Given the description of an element on the screen output the (x, y) to click on. 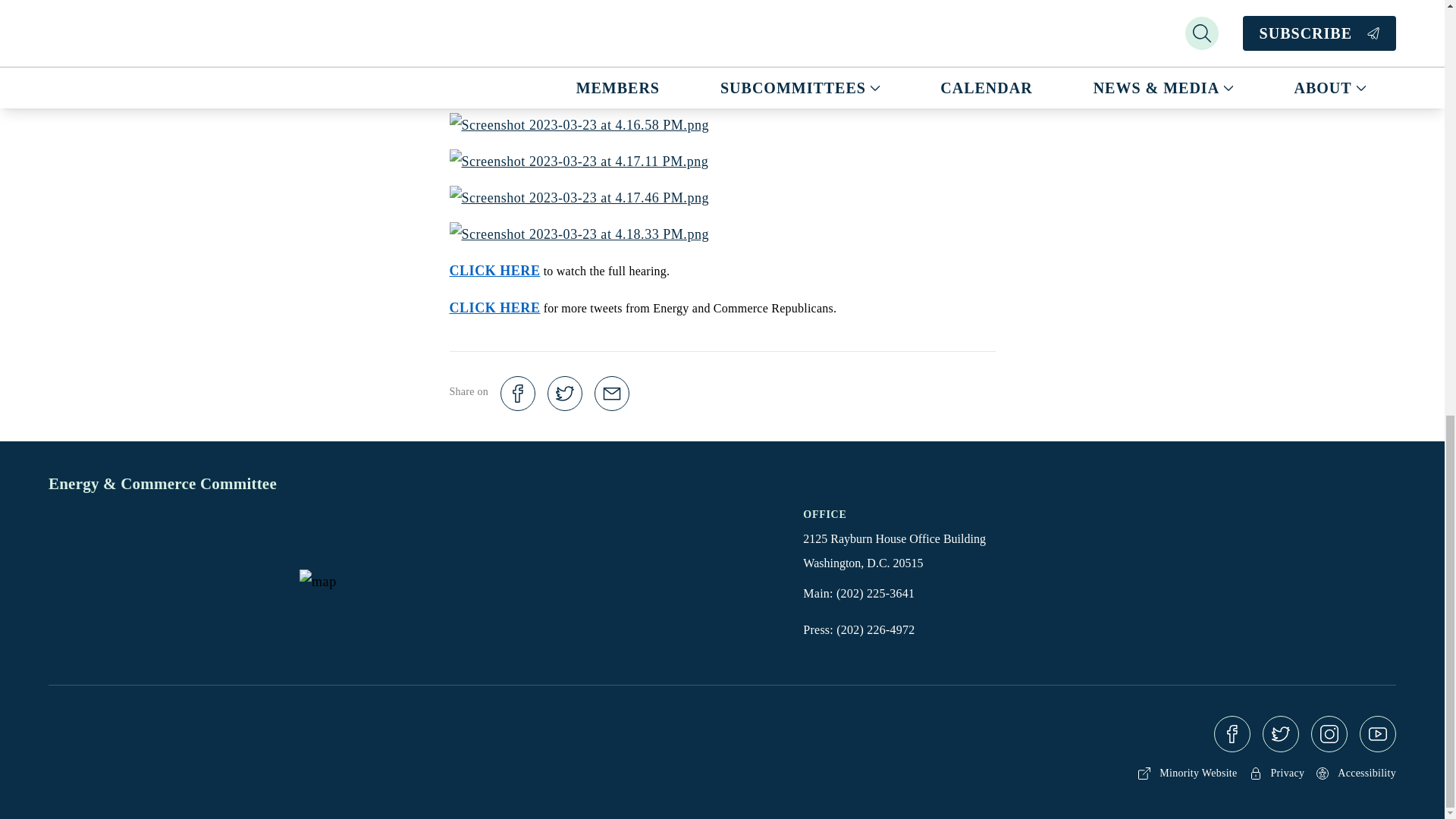
CLICK HERE (494, 307)
CLICK HERE (494, 270)
